Given the description of an element on the screen output the (x, y) to click on. 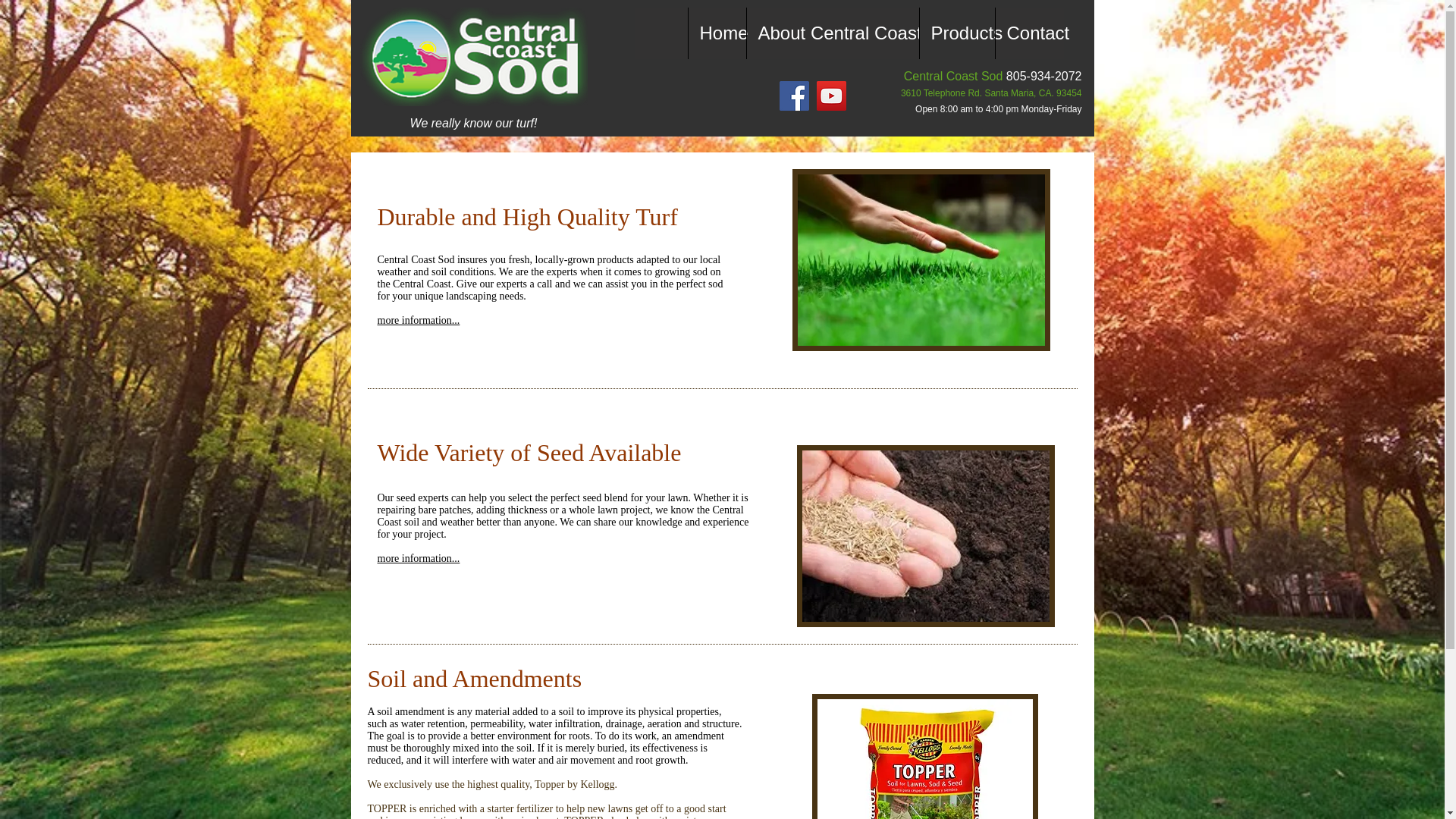
About Central Coast Sod (831, 32)
more information... (418, 319)
Home (716, 32)
Contact (1029, 32)
more information... (418, 558)
Products (956, 32)
